Given the description of an element on the screen output the (x, y) to click on. 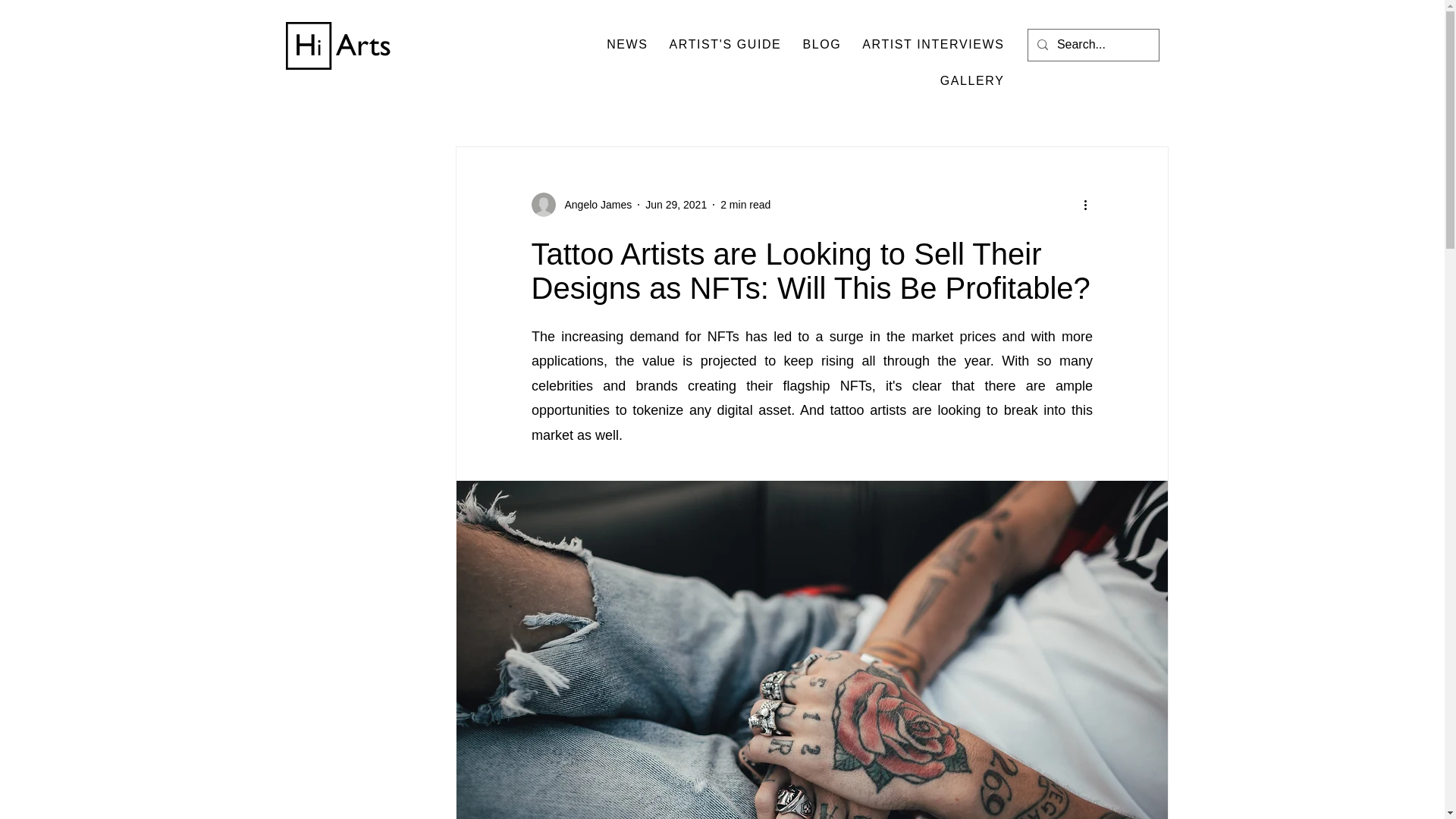
BLOG (821, 45)
ARTIST INTERVIEWS (932, 45)
2 min read (745, 204)
Jun 29, 2021 (675, 204)
Angelo James  (592, 204)
Angelo James (581, 204)
GALLERY (972, 81)
ARTIST'S GUIDE (725, 45)
NEWS (626, 45)
